Given the description of an element on the screen output the (x, y) to click on. 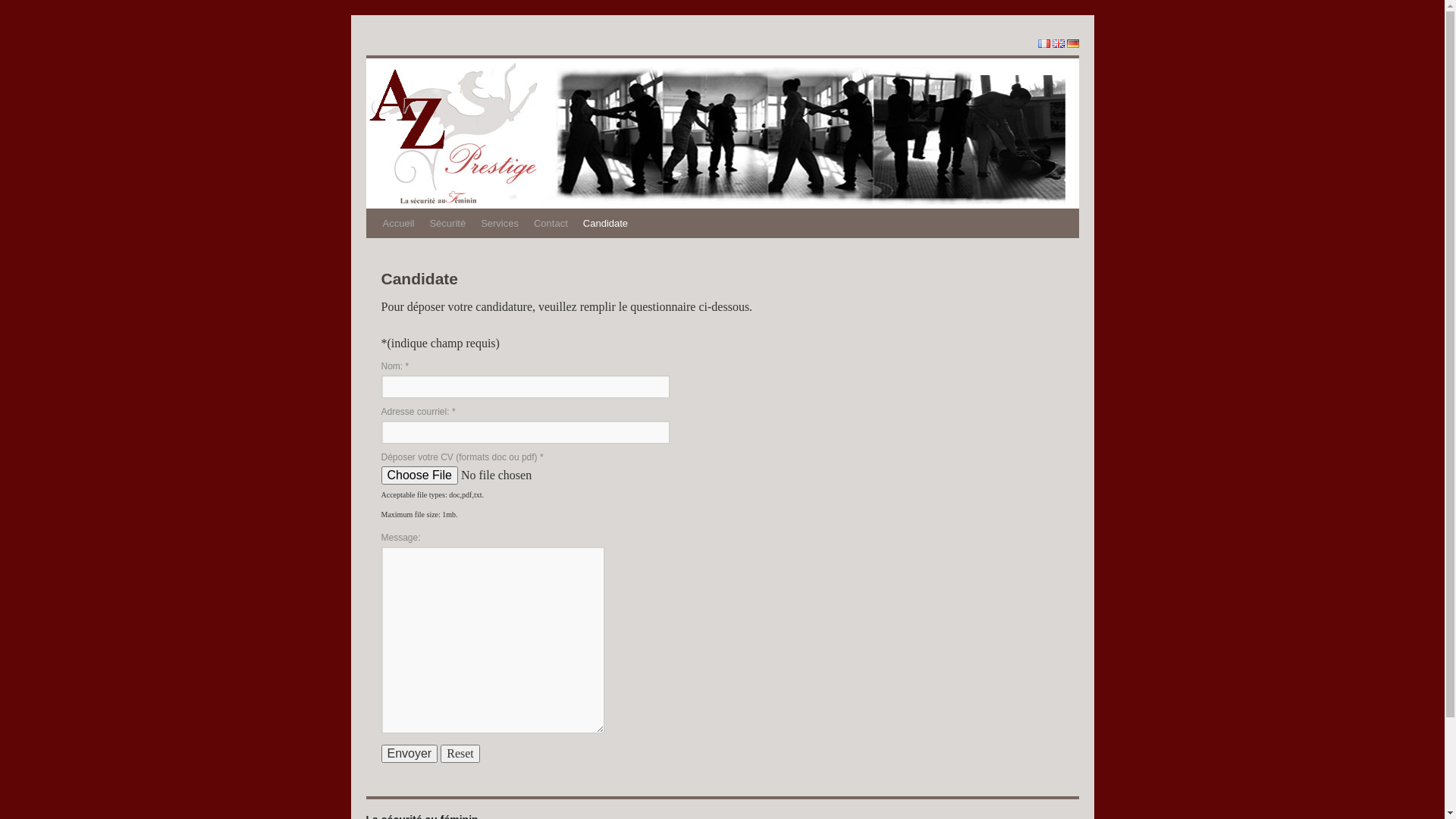
Accueil Element type: text (397, 223)
Candidate Element type: text (605, 223)
Envoyer Element type: text (408, 753)
Reset Element type: text (460, 753)
Contact Element type: text (550, 223)
Services Element type: text (499, 223)
